Given the description of an element on the screen output the (x, y) to click on. 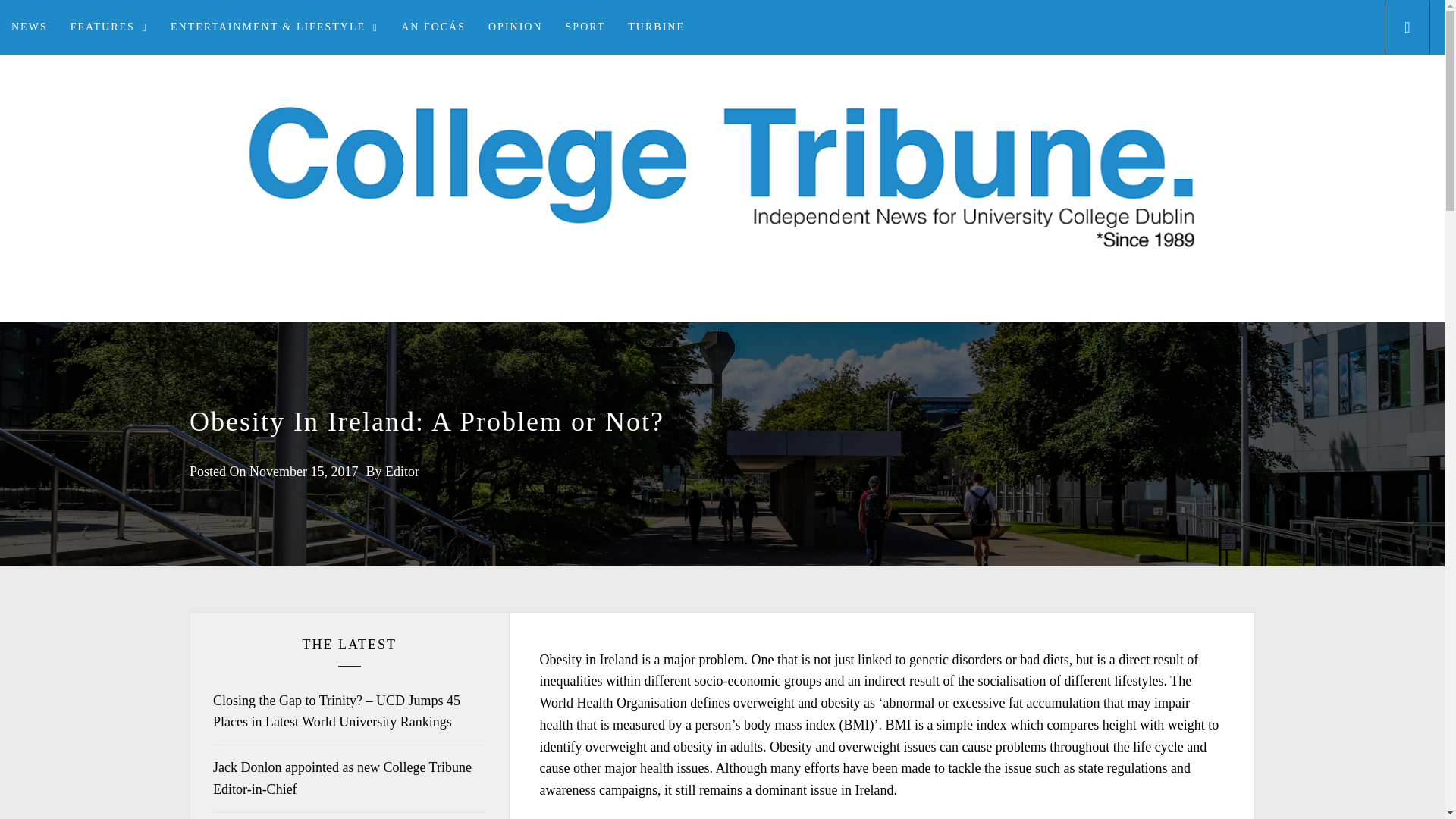
SPORT (585, 27)
OPINION (515, 27)
Search (797, 407)
Editor (402, 471)
TURBINE (655, 27)
COLLEGE TRIBUNE (721, 320)
FEATURES (108, 27)
NEWS (29, 27)
November 15, 2017 (303, 471)
